Given the description of an element on the screen output the (x, y) to click on. 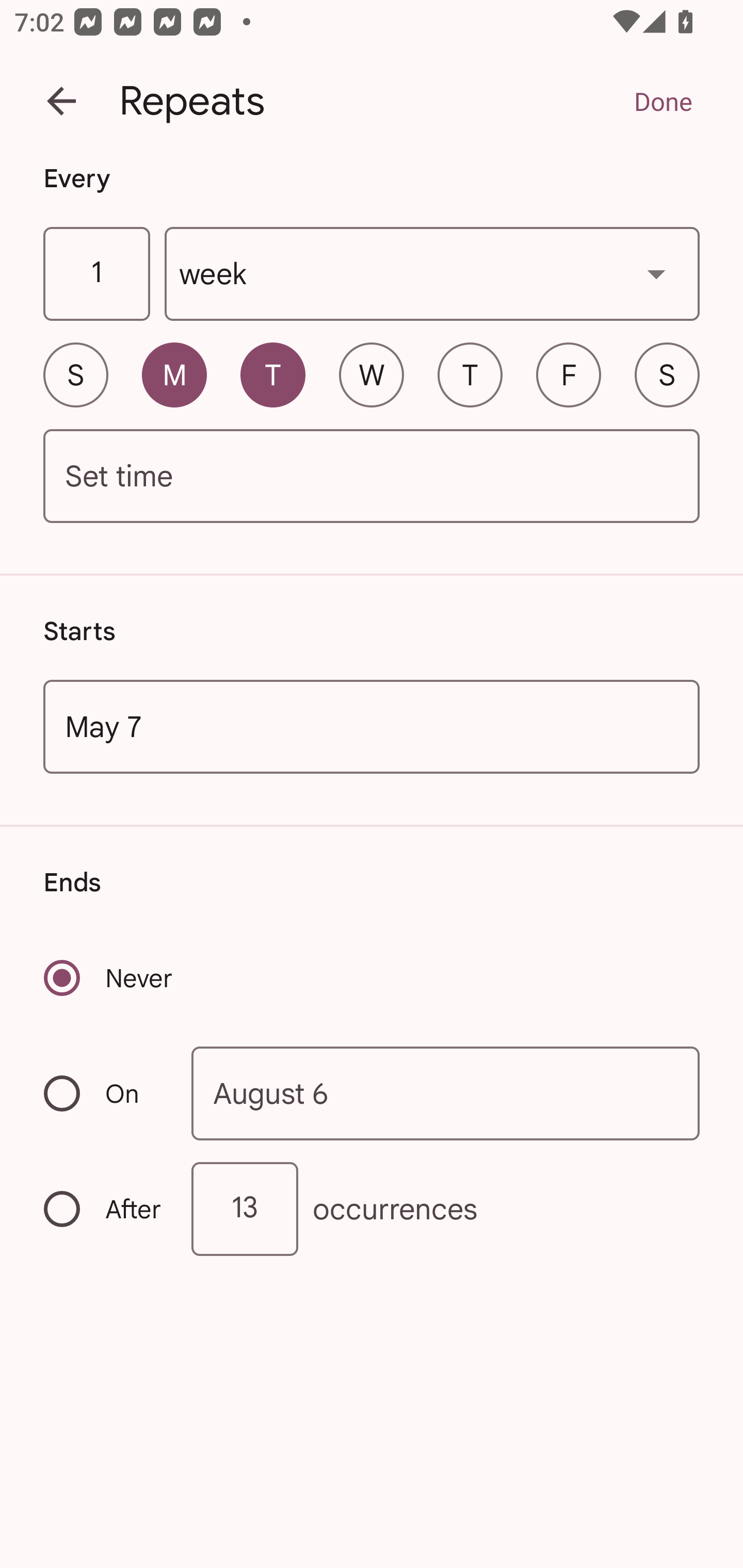
Back (61, 101)
Done (663, 101)
1 (96, 274)
week (431, 274)
Show dropdown menu (655, 273)
S Sunday (75, 374)
M Monday, selected (173, 374)
T Tuesday, selected (272, 374)
W Wednesday (371, 374)
T Thursday (469, 374)
F Friday (568, 374)
S Saturday (666, 374)
Set time (371, 476)
May 7 (371, 726)
Never Recurrence never ends (109, 978)
August 6 (445, 1092)
On Recurrence ends on a specific date (104, 1093)
13 (244, 1208)
